Given the description of an element on the screen output the (x, y) to click on. 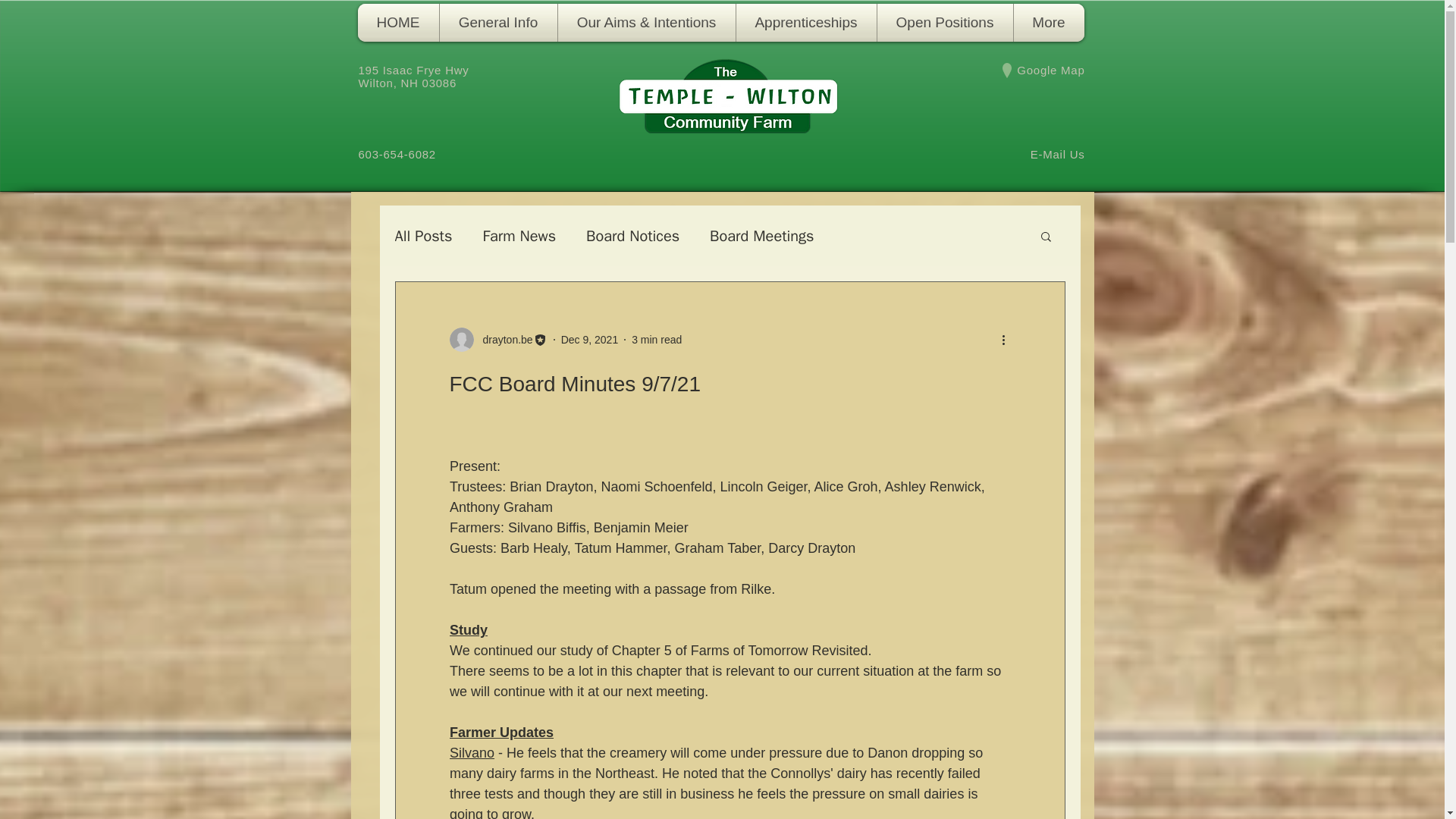
195 Isaac Frye Hwy  Wilton, NH 03086 (414, 76)
3 min read (656, 339)
HOME (398, 22)
All Posts (422, 236)
Board Meetings (761, 236)
Open Positions (943, 22)
Google Map (1050, 69)
Farm News (518, 236)
drayton.be (502, 340)
E-Mail Us (1057, 154)
